Given the description of an element on the screen output the (x, y) to click on. 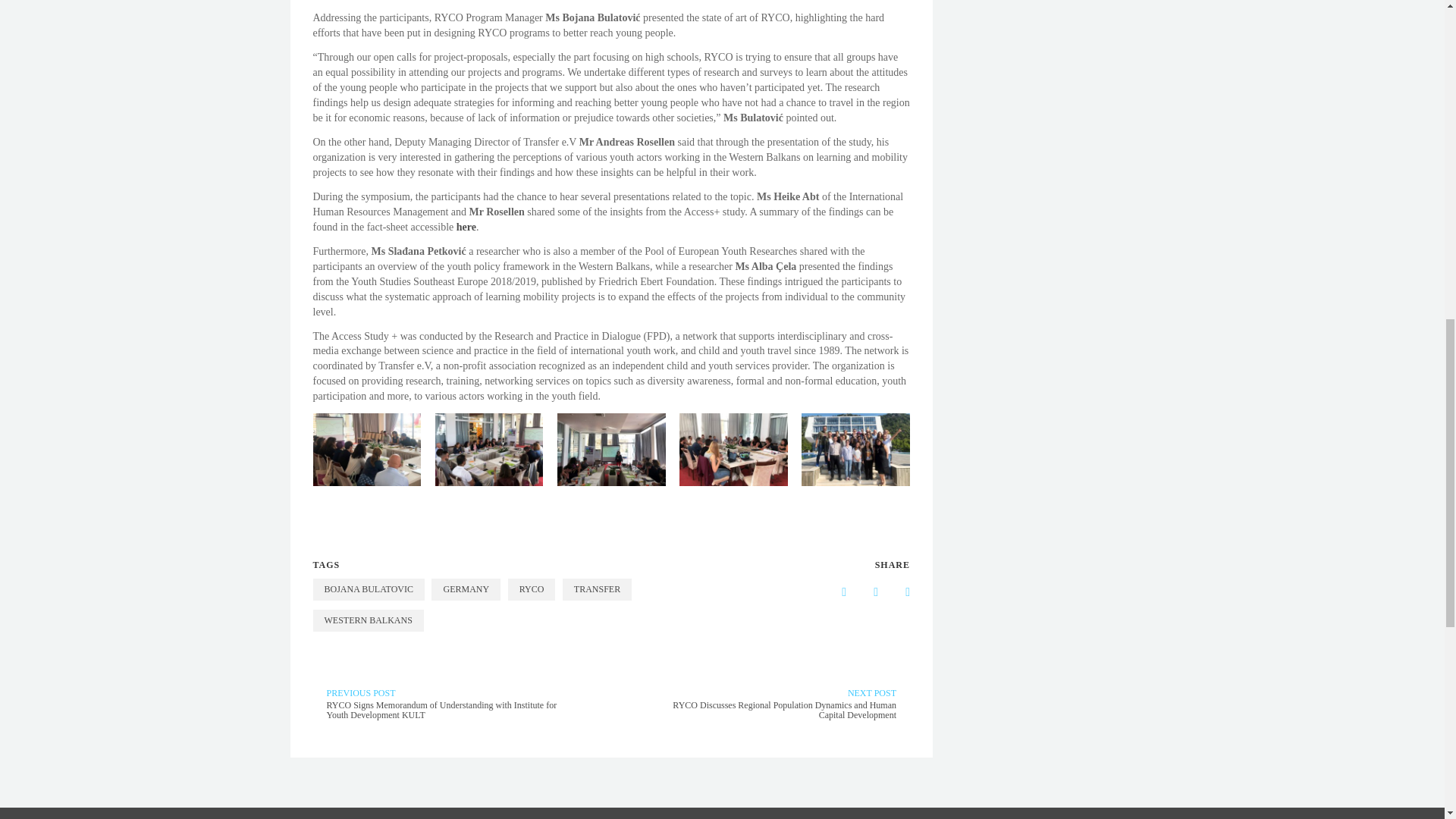
Share on LinkedIn (863, 592)
Share on Facebook (831, 592)
Tweet (896, 592)
